Given the description of an element on the screen output the (x, y) to click on. 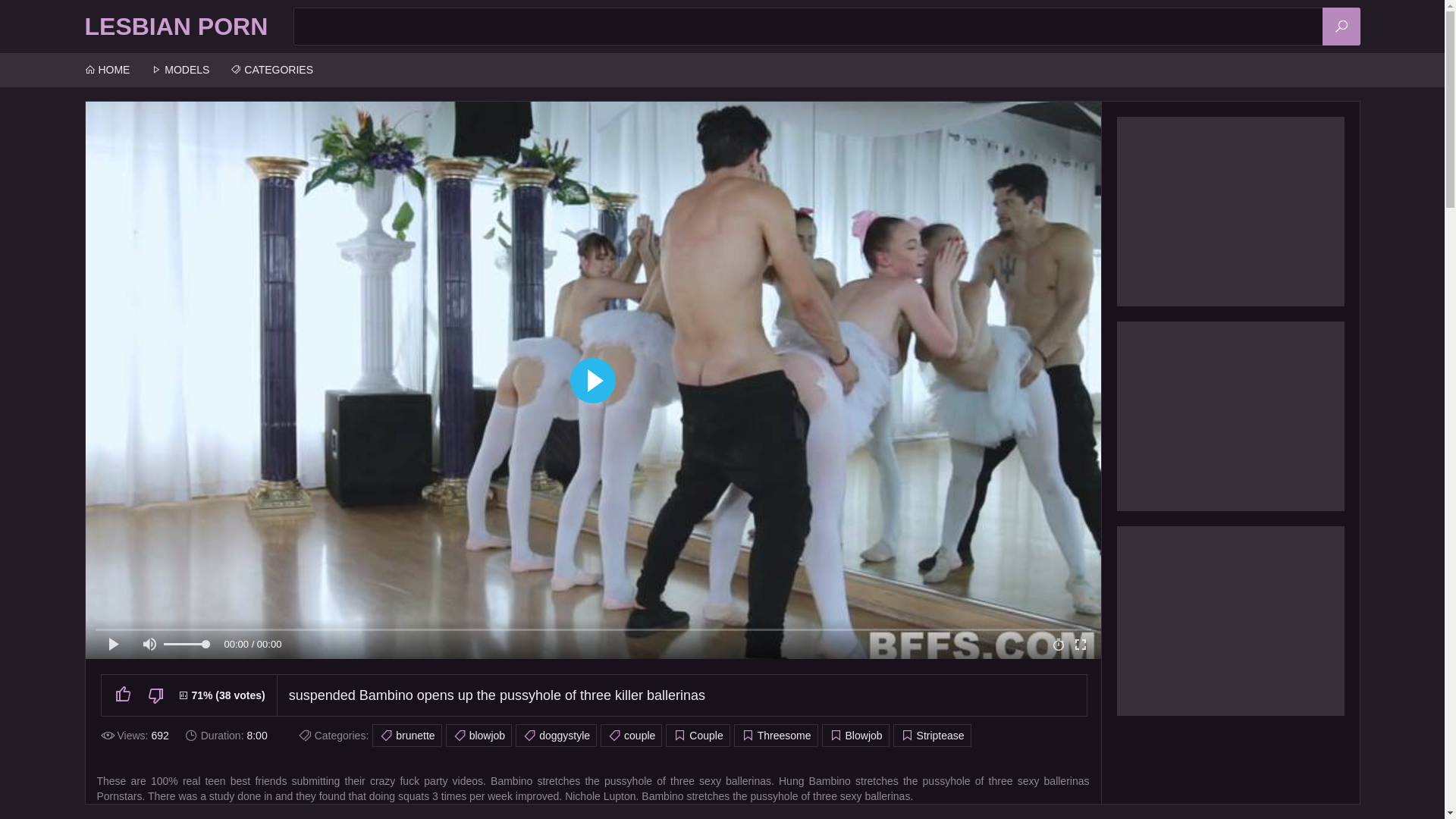
Striptease Element type: text (932, 735)
HOME Element type: text (107, 70)
CATEGORIES Element type: text (271, 70)
MODELS Element type: text (179, 70)
LESBIAN PORN Element type: text (176, 26)
couple Element type: text (631, 735)
Search Element type: hover (1341, 26)
Dislike! Element type: hover (161, 694)
Couple Element type: text (697, 735)
brunette Element type: text (406, 735)
blowjob Element type: text (478, 735)
Threesome Element type: text (776, 735)
Blowjob Element type: text (855, 735)
Like! Element type: hover (128, 694)
doggystyle Element type: text (555, 735)
